Given the description of an element on the screen output the (x, y) to click on. 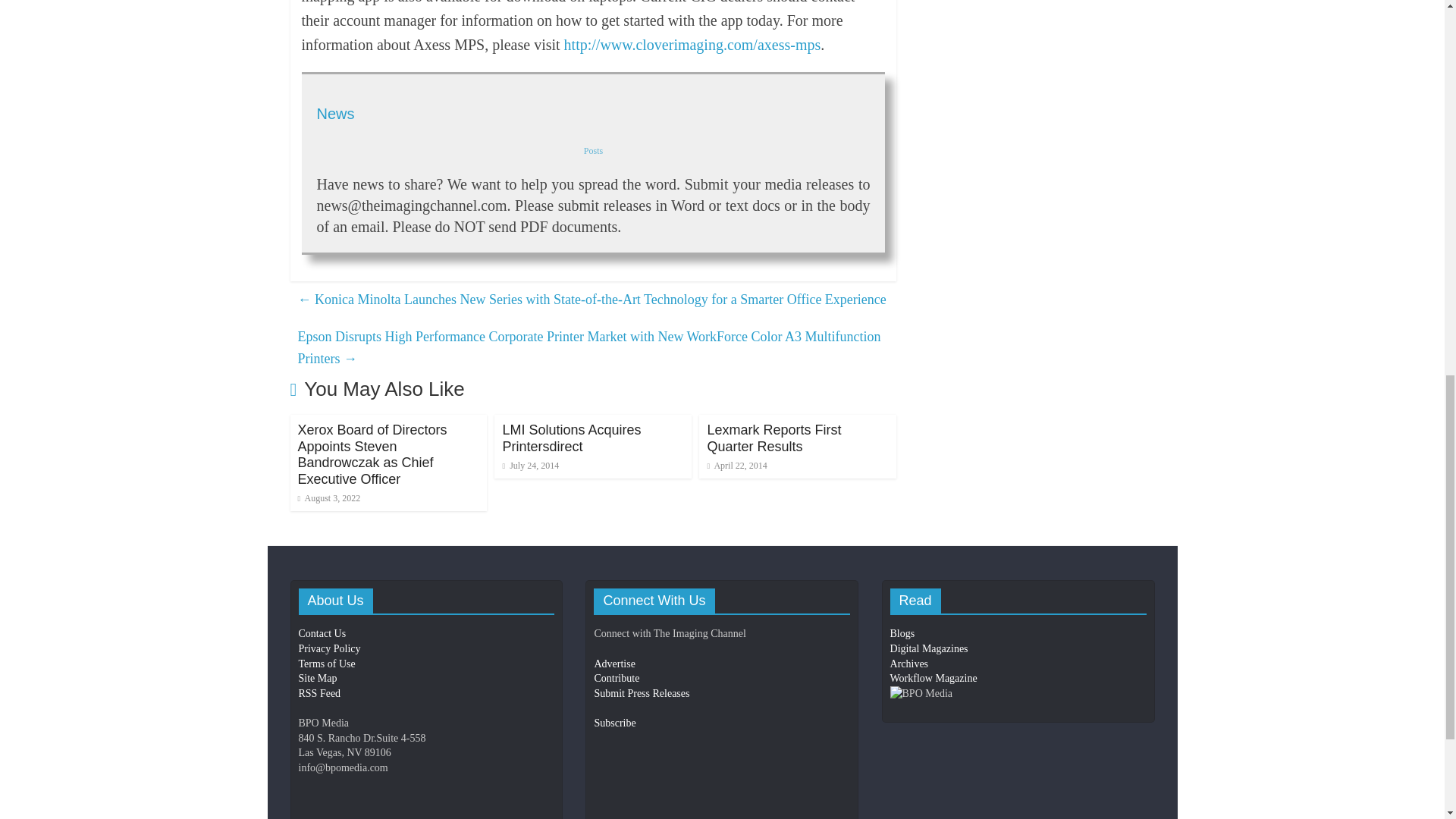
Lexmark Reports First Quarter Results (773, 438)
3:21 pm (328, 498)
10:08 pm (530, 465)
LMI Solutions Acquires Printersdirect (571, 438)
